Given the description of an element on the screen output the (x, y) to click on. 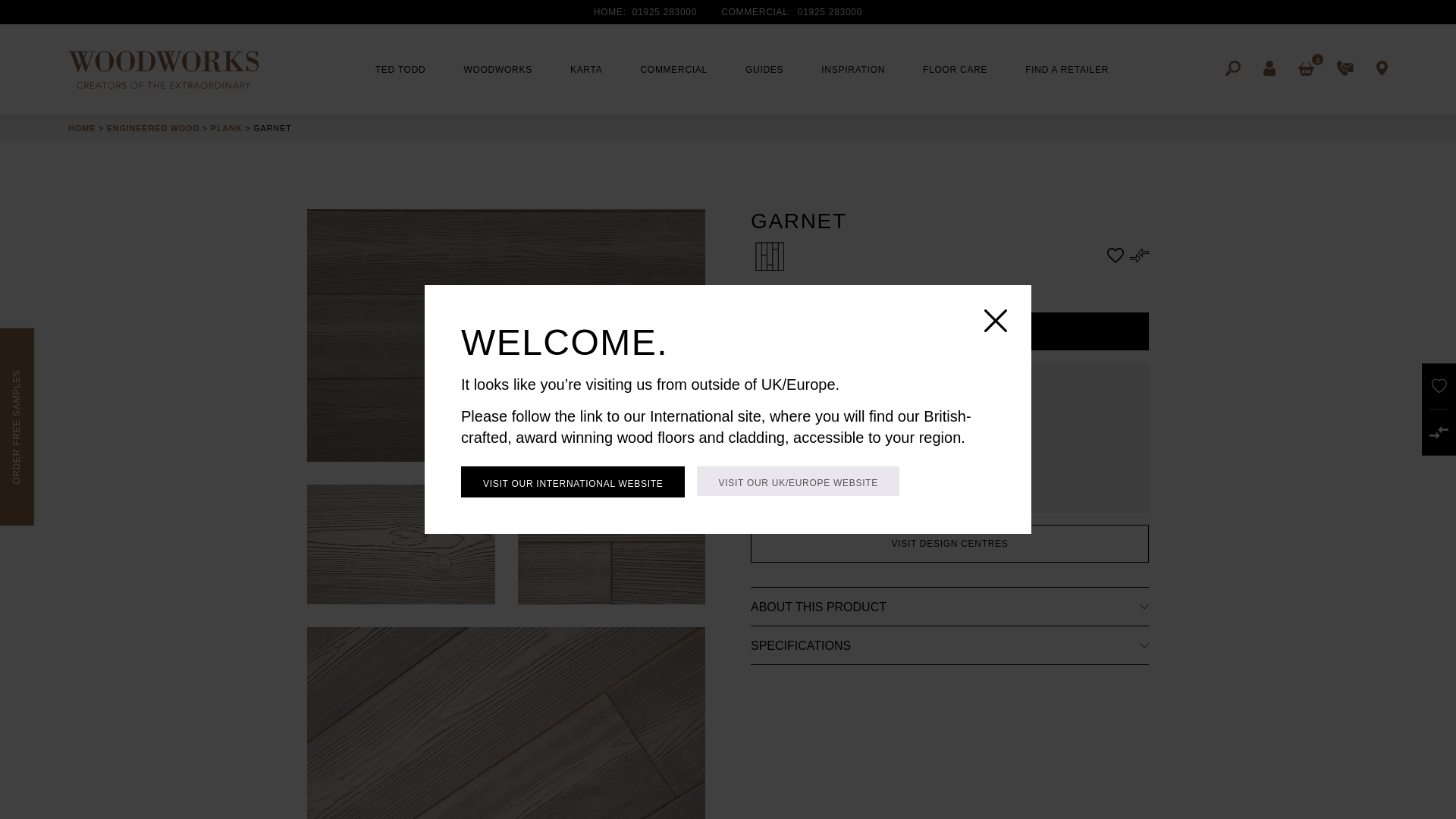
View your sample basket (1306, 69)
Contact Us (1345, 69)
230mm (935, 386)
My Account (1269, 69)
20mm (925, 455)
Find A Retailer (1381, 69)
0.6-3m (931, 417)
